Given the description of an element on the screen output the (x, y) to click on. 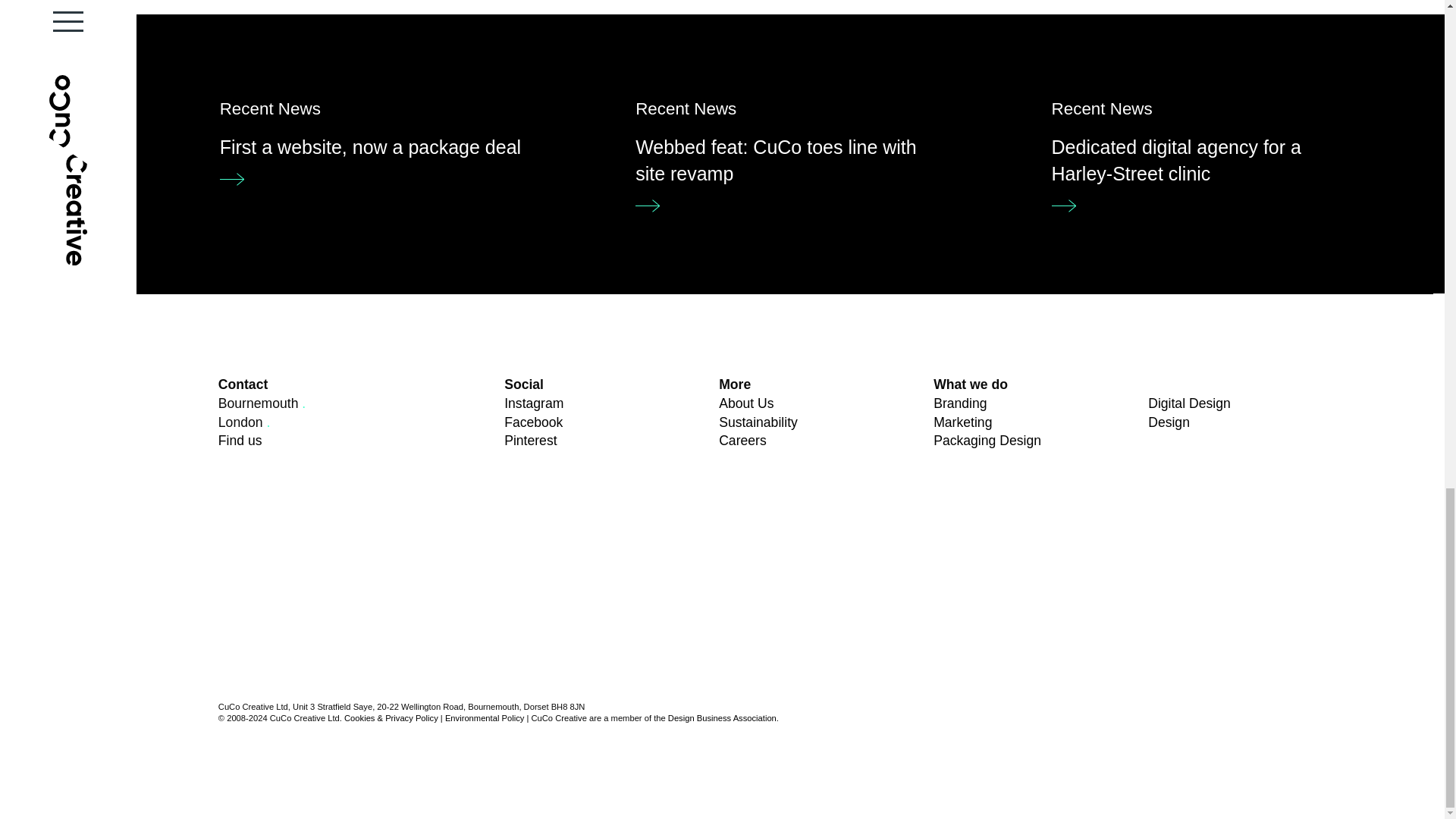
Member of Biaza (596, 605)
Ecologi Climate Friendly Workplace (331, 605)
DBA (1126, 556)
Careers (743, 440)
RAR Awards 15x Finalist (861, 556)
The Communicator Awards 5x Winners (331, 556)
Instagram (789, 152)
RAR Awards Winner (533, 403)
Pinterest (596, 556)
About Us (529, 440)
Find us (746, 403)
Sustainability (240, 440)
